Given the description of an element on the screen output the (x, y) to click on. 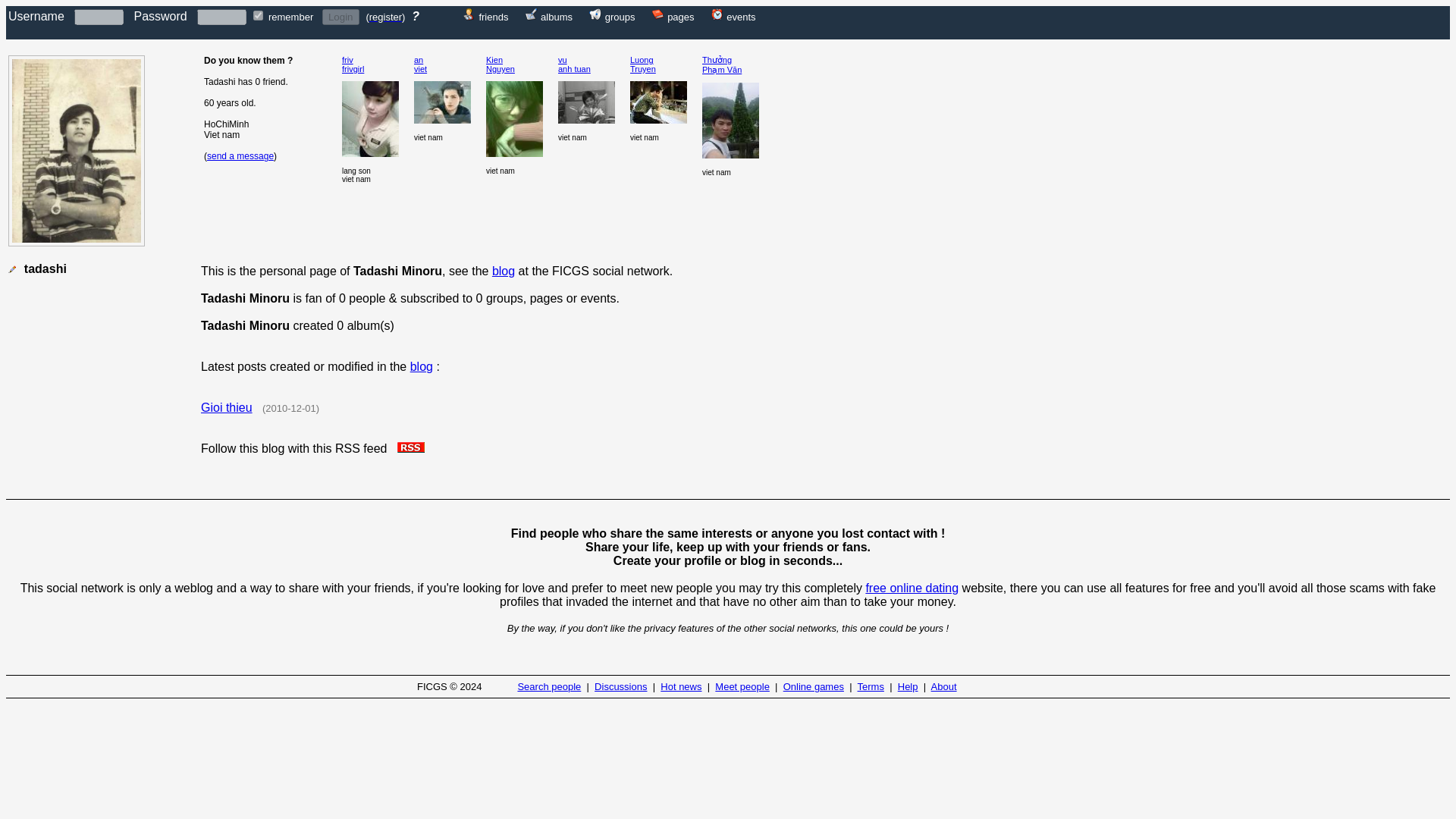
Find friends (493, 15)
Hot news (681, 686)
Login (340, 17)
Please connect to find pages (680, 15)
Please connect to find groups (595, 15)
Meet people (742, 686)
Kien Nguyen (500, 64)
Discussions (620, 686)
Search people (548, 686)
blog (421, 366)
